Given the description of an element on the screen output the (x, y) to click on. 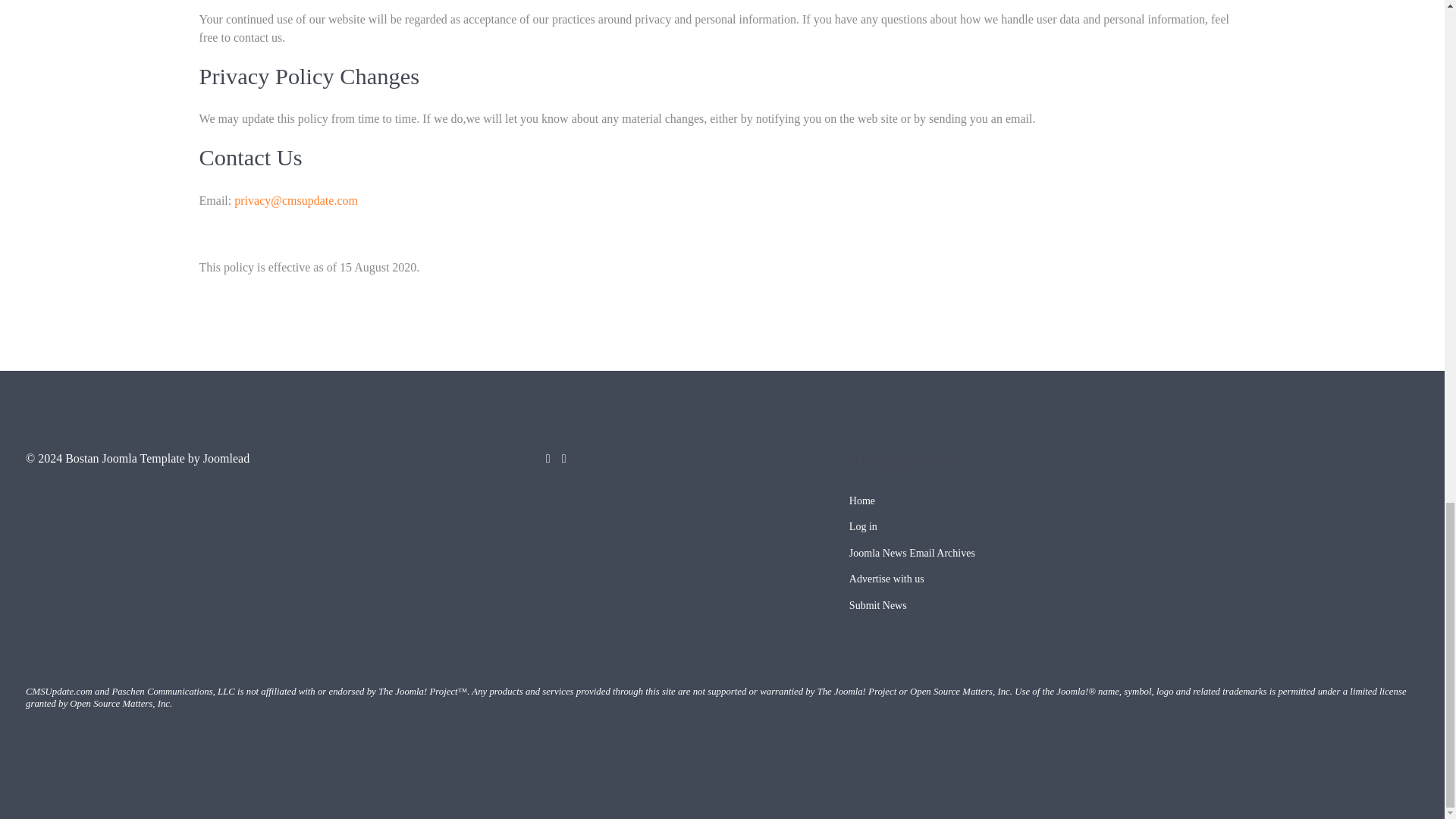
Home (1133, 501)
Joomlead (225, 458)
Advertise with us (1133, 579)
Log in (1133, 527)
Submit News (1133, 605)
Joomla News Email Archives (1133, 553)
